Given the description of an element on the screen output the (x, y) to click on. 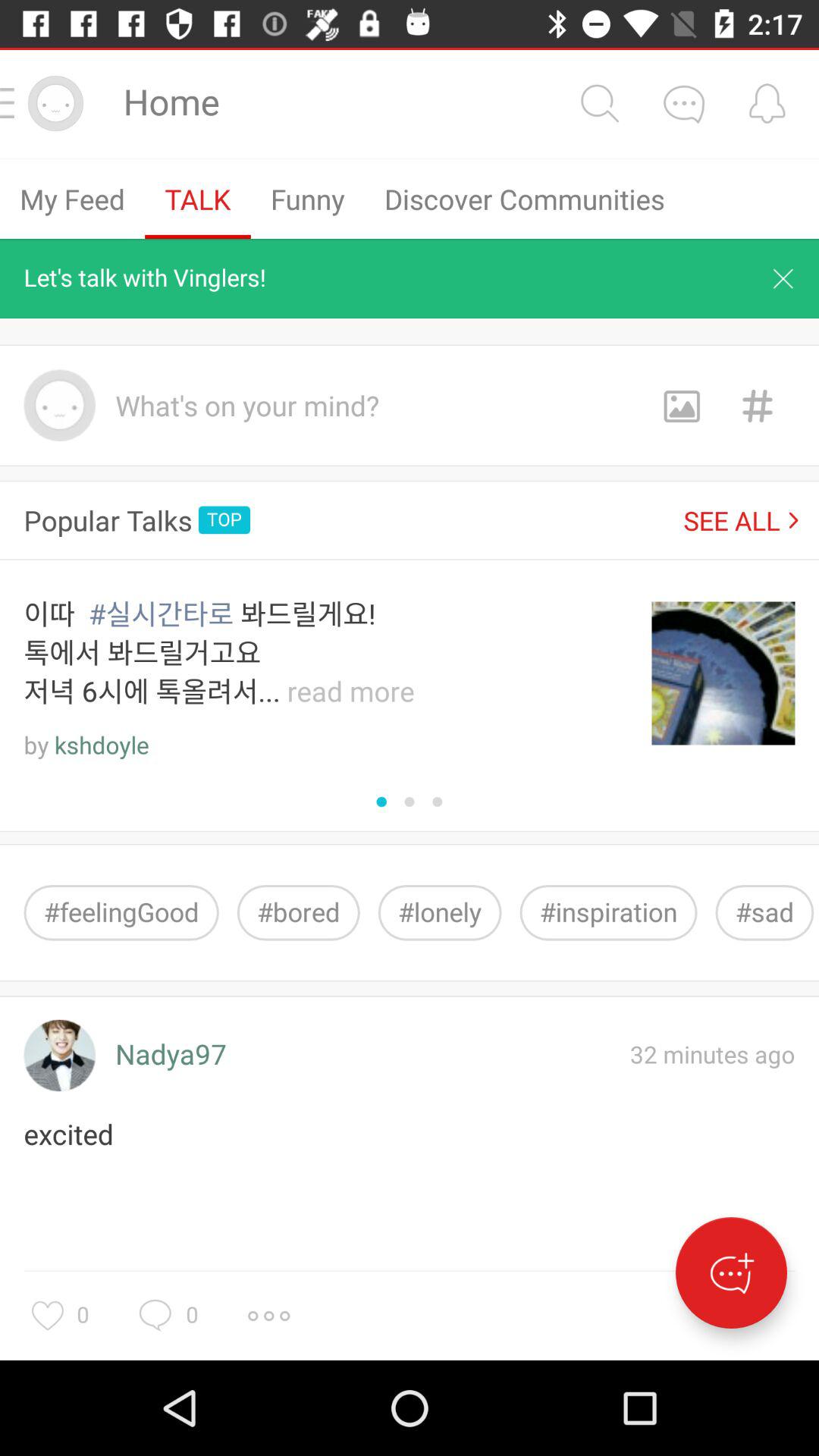
shows bell icon (766, 103)
